Given the description of an element on the screen output the (x, y) to click on. 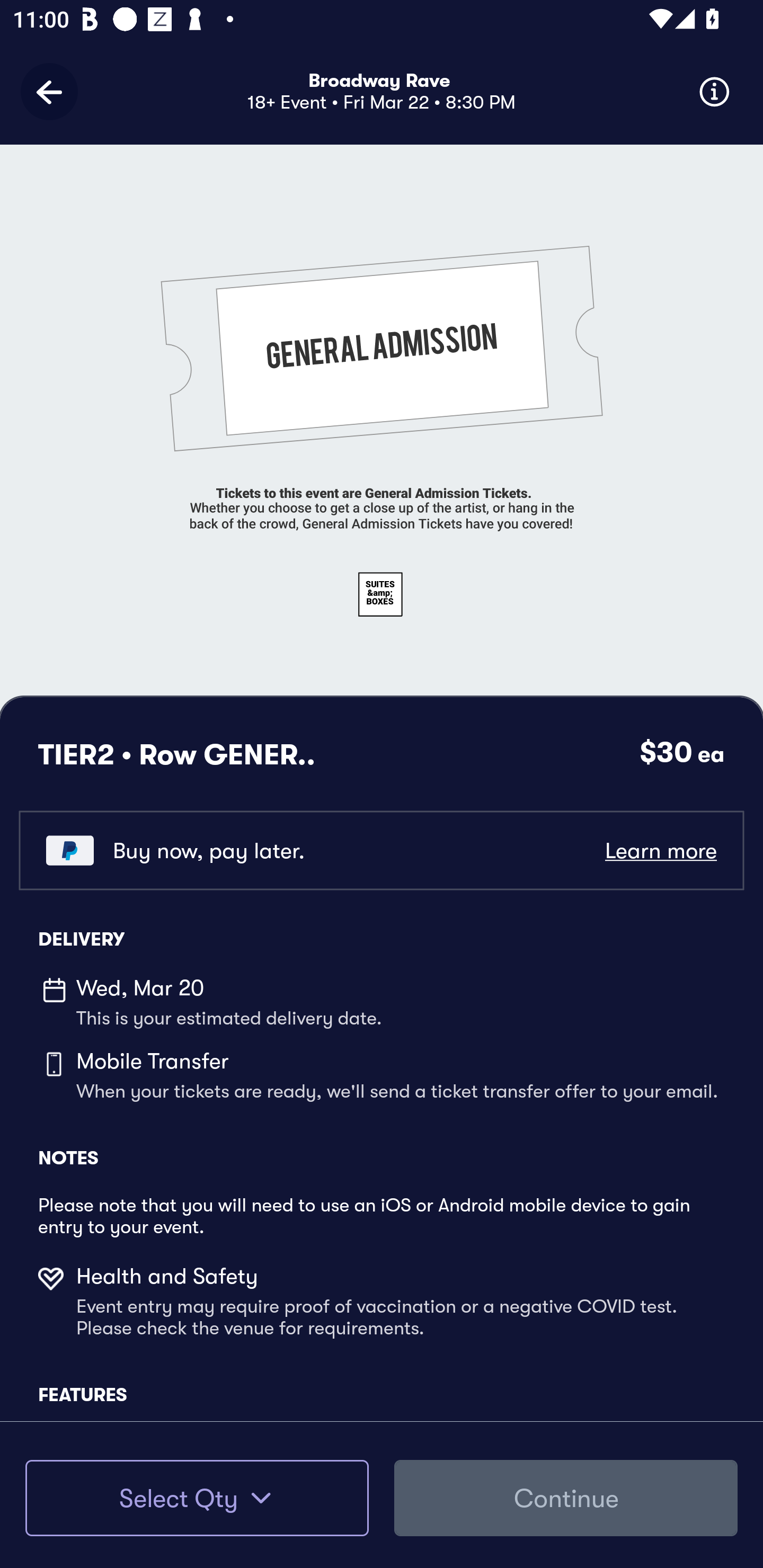
Learn more (660, 850)
Select Qty (196, 1497)
Continue (565, 1497)
